Given the description of an element on the screen output the (x, y) to click on. 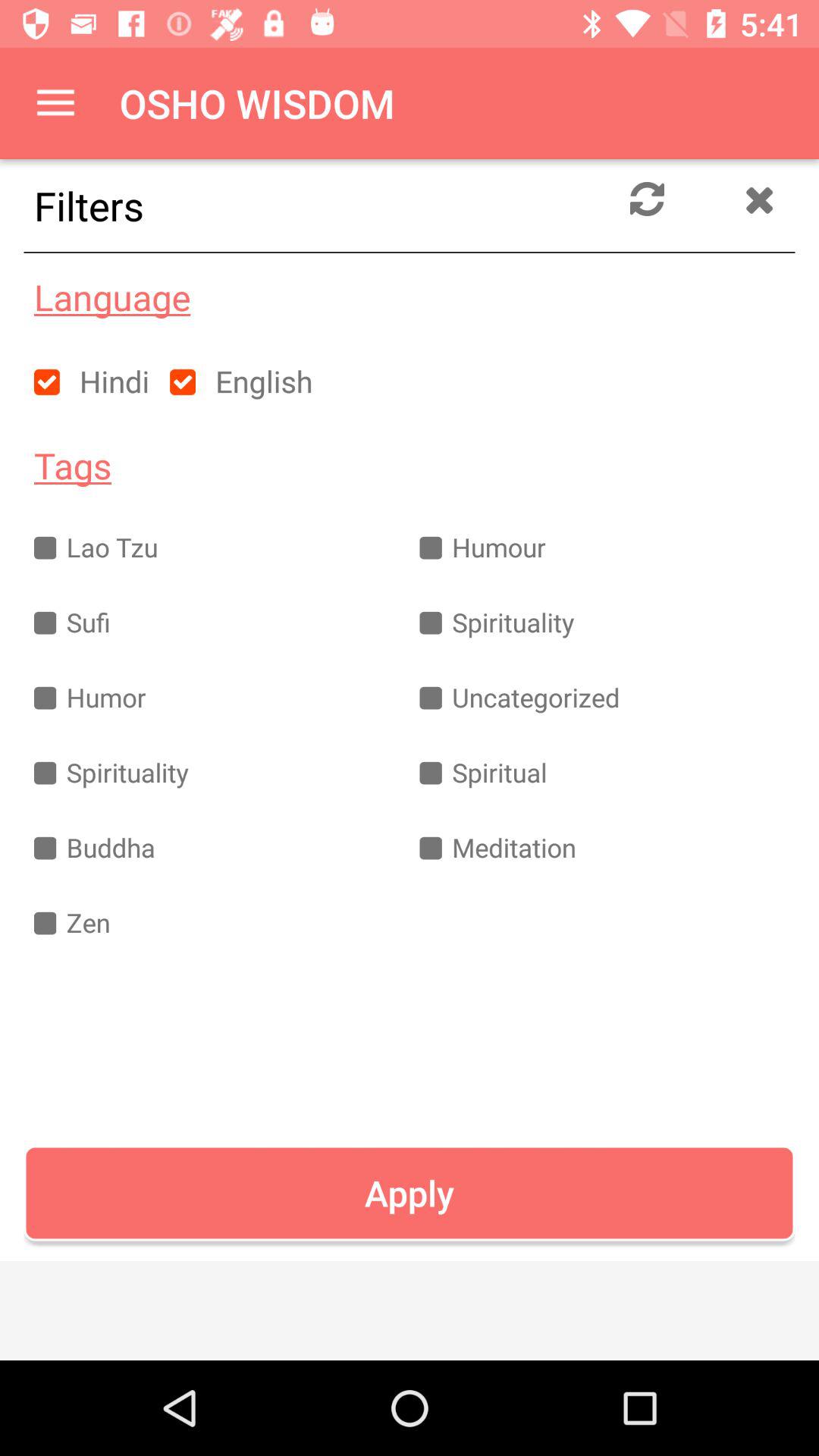
open item above filters (55, 103)
